Given the description of an element on the screen output the (x, y) to click on. 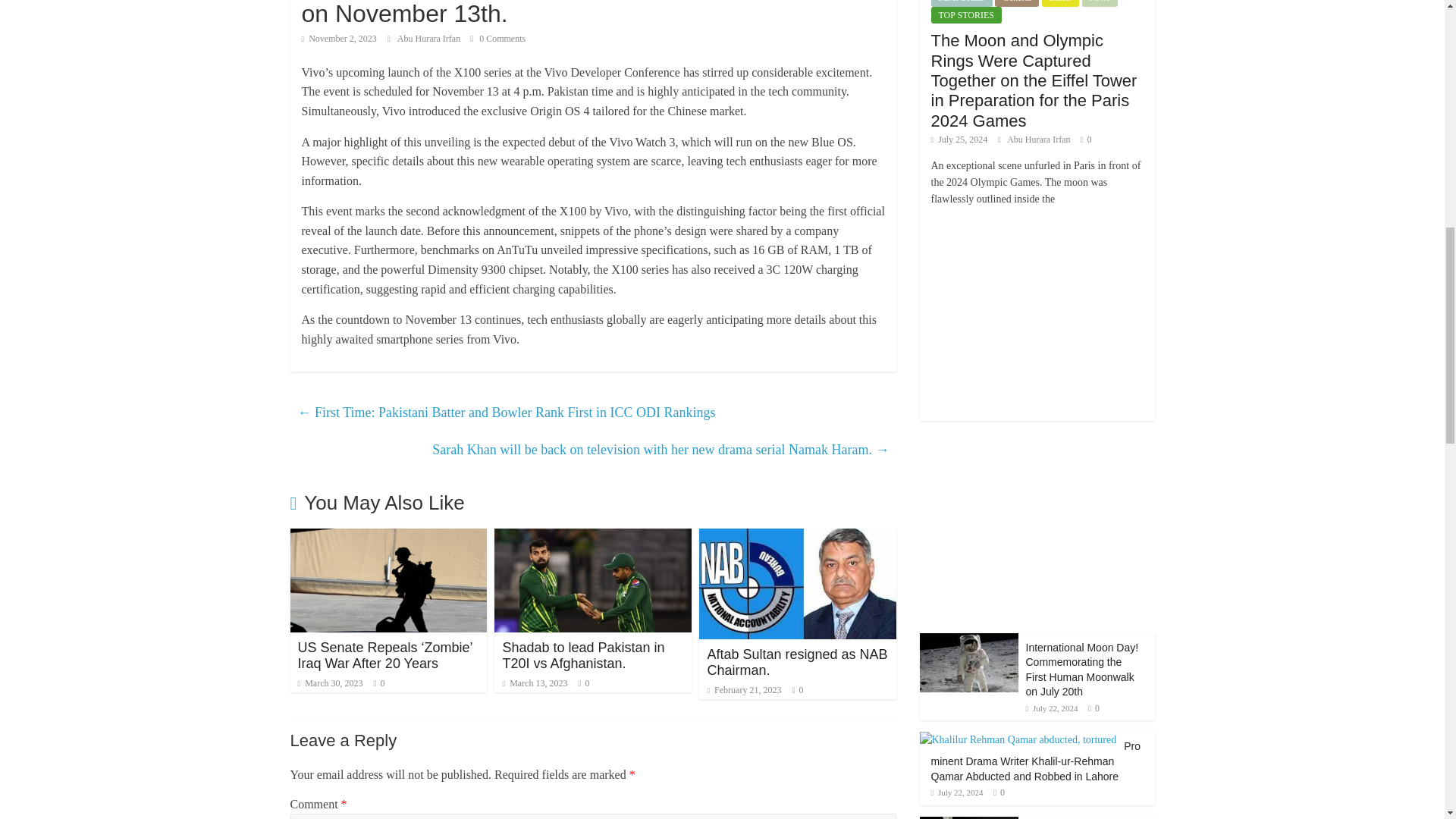
Abu Hurara Irfan (430, 38)
November 2, 2023 (339, 38)
6:41 pm (339, 38)
Abu Hurara Irfan (430, 38)
0 Comments (497, 38)
